Given the description of an element on the screen output the (x, y) to click on. 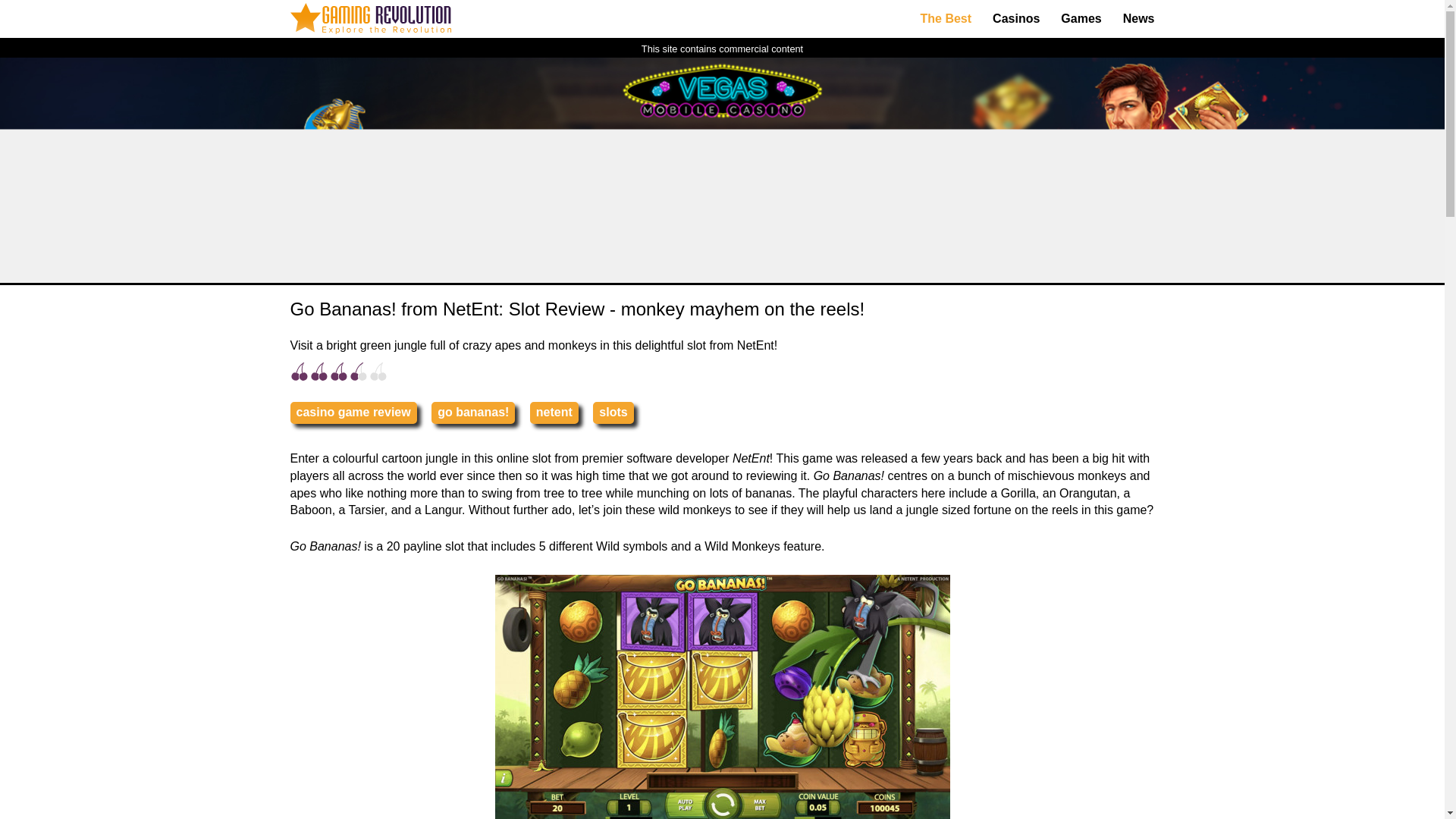
Casinos (1015, 19)
News (1139, 19)
go bananas! (472, 413)
slots (612, 413)
Games (1080, 19)
casino game review (352, 413)
The Best (946, 19)
netent (553, 413)
